Given the description of an element on the screen output the (x, y) to click on. 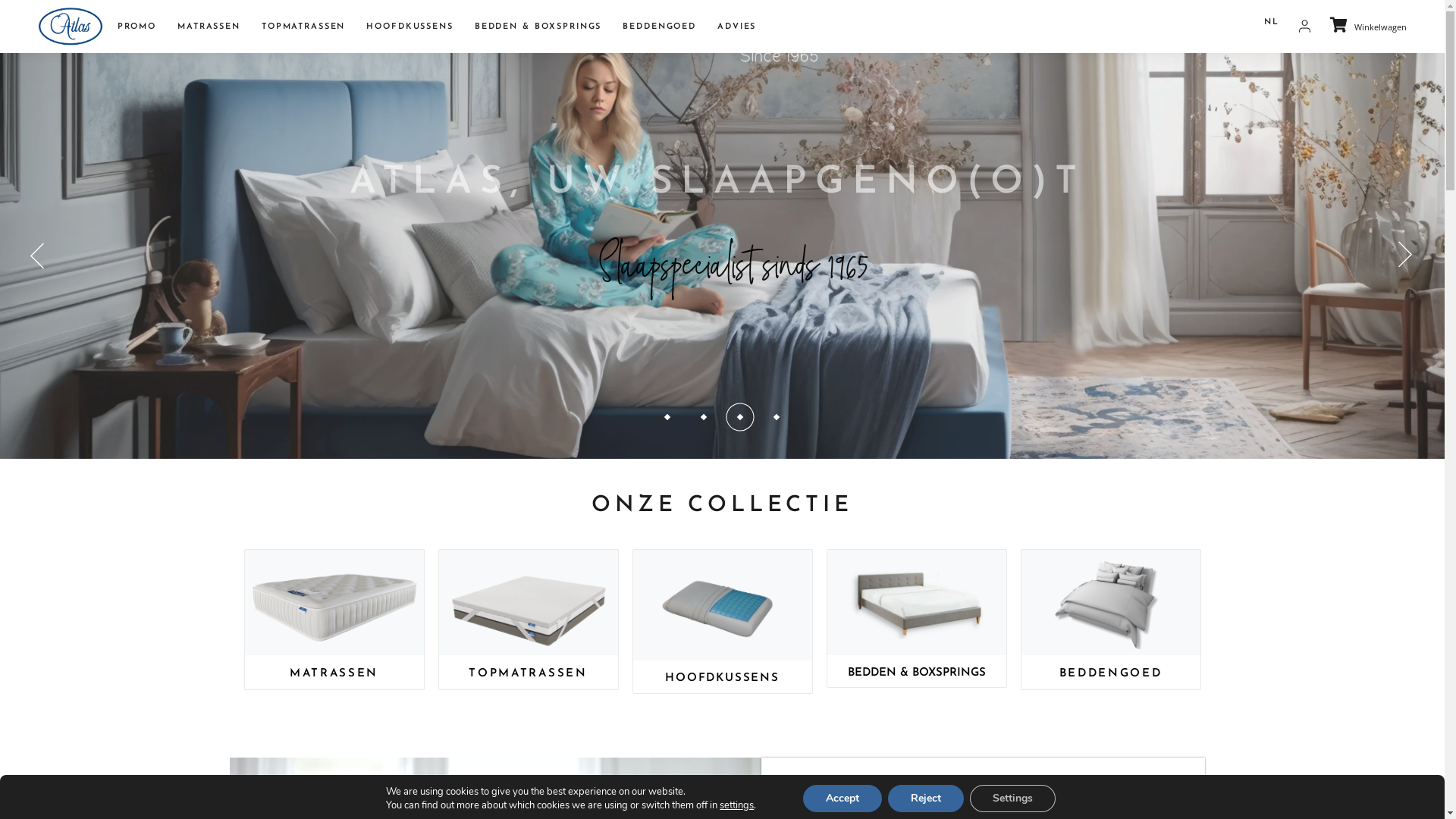
HOOFDKUSSENS Element type: text (409, 26)
Reject Element type: text (925, 798)
BEDDEN & BOXSPRINGS Element type: text (916, 672)
TOPMATRASSEN Element type: text (303, 26)
NL Element type: text (1271, 22)
TOPMATRASSEN Element type: text (527, 673)
ADVIES Element type: text (736, 26)
Winkelwagen Element type: text (1368, 25)
Accept Element type: text (842, 798)
BEDDENGOED Element type: text (1109, 673)
Settings Element type: text (1012, 798)
MATRASSEN Element type: text (333, 673)
HOOFDKUSSENS Element type: text (722, 678)
BEDDENGOED Element type: text (659, 26)
PROMO Element type: text (136, 26)
BEDDEN & BOXSPRINGS Element type: text (538, 26)
MATRASSEN Element type: text (208, 26)
